Given the description of an element on the screen output the (x, y) to click on. 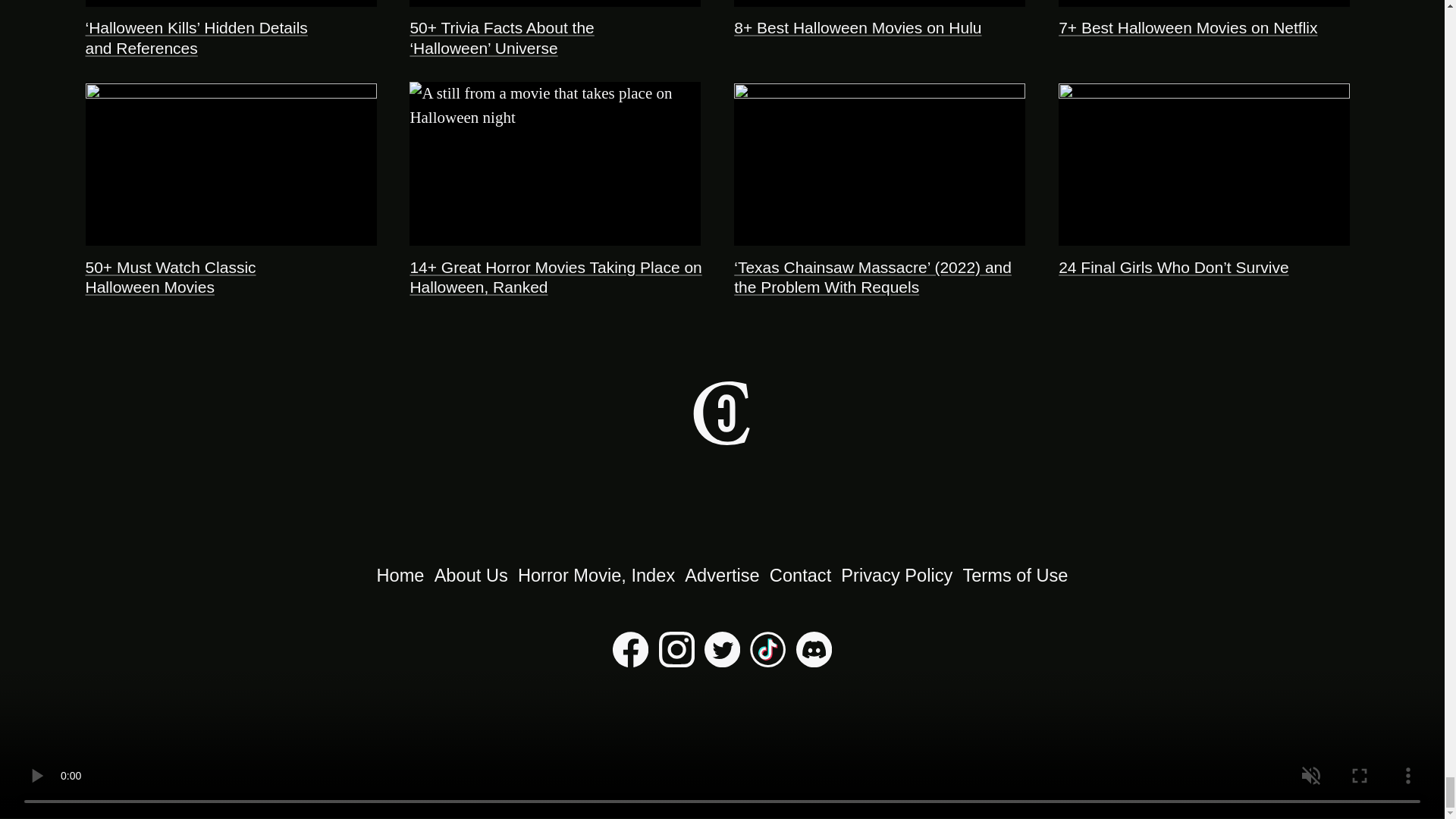
Home (401, 575)
Twitter (721, 660)
TikTok (767, 660)
Discord (813, 660)
Facebook (629, 660)
Advertise (721, 575)
Instagram (676, 660)
About Us (470, 575)
Horror Movie, Index (596, 575)
